Given the description of an element on the screen output the (x, y) to click on. 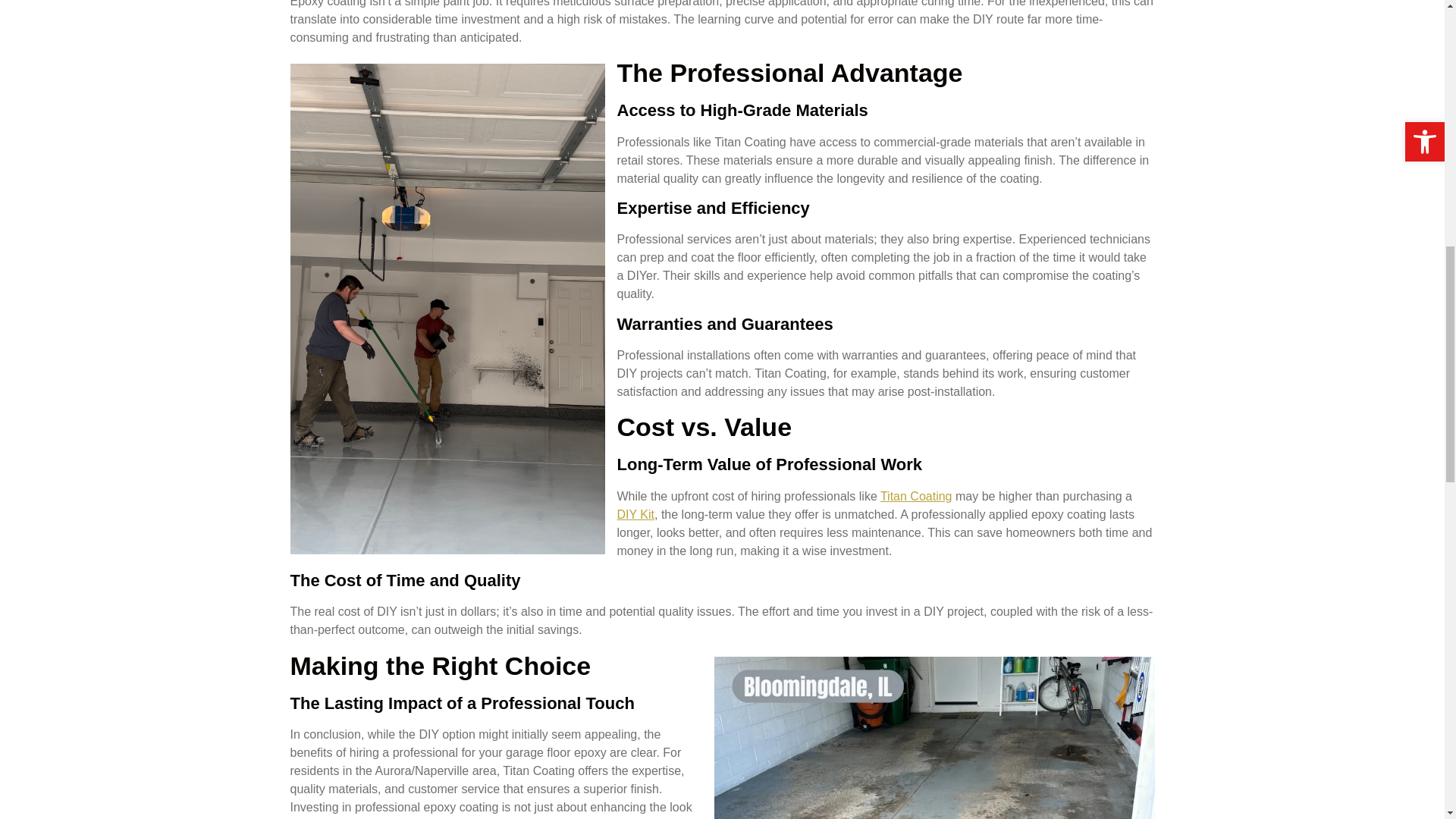
Titan Coating (916, 495)
DIY Kit (636, 513)
